Given the description of an element on the screen output the (x, y) to click on. 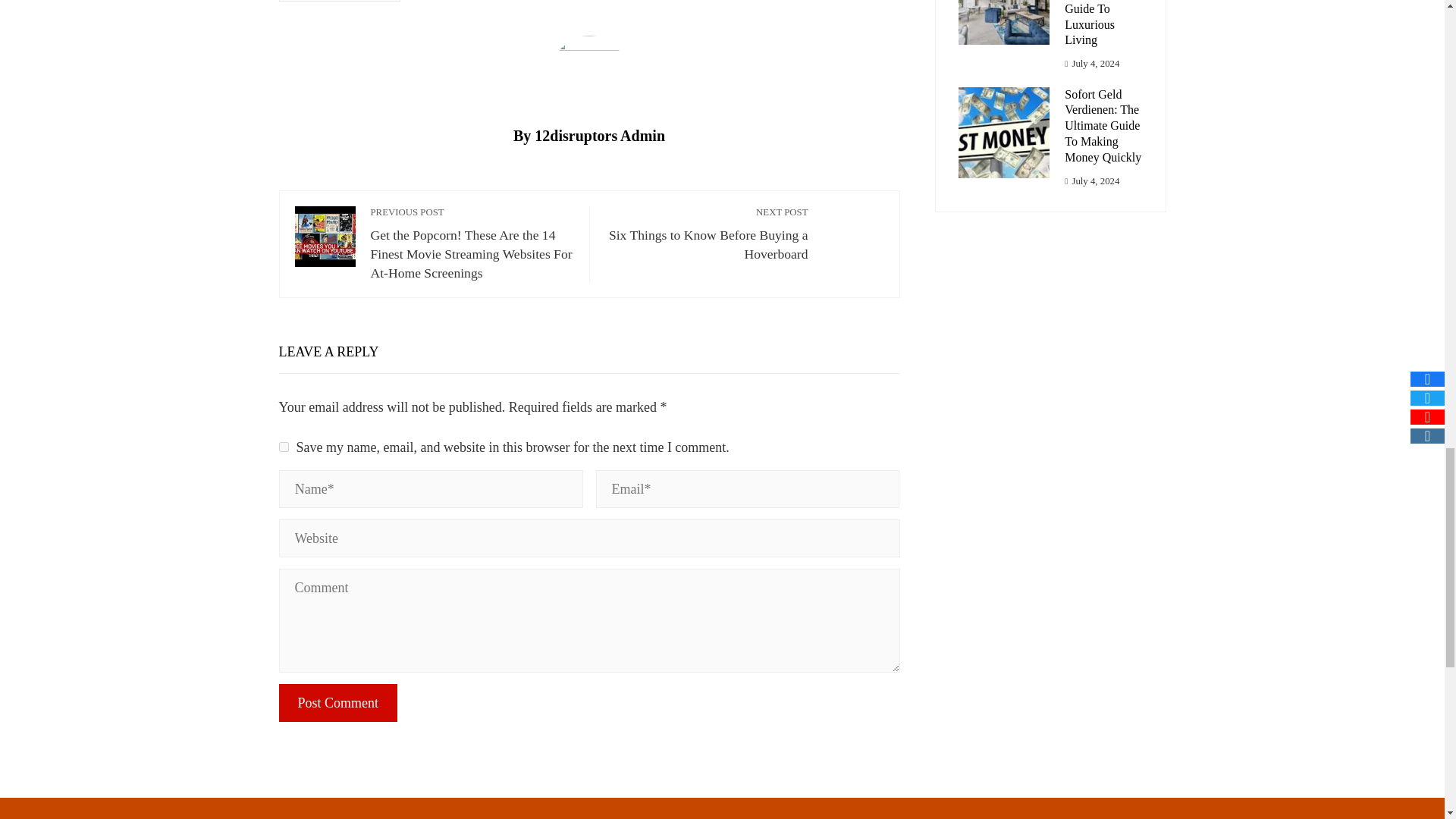
yes (283, 447)
Post Comment (338, 702)
